Given the description of an element on the screen output the (x, y) to click on. 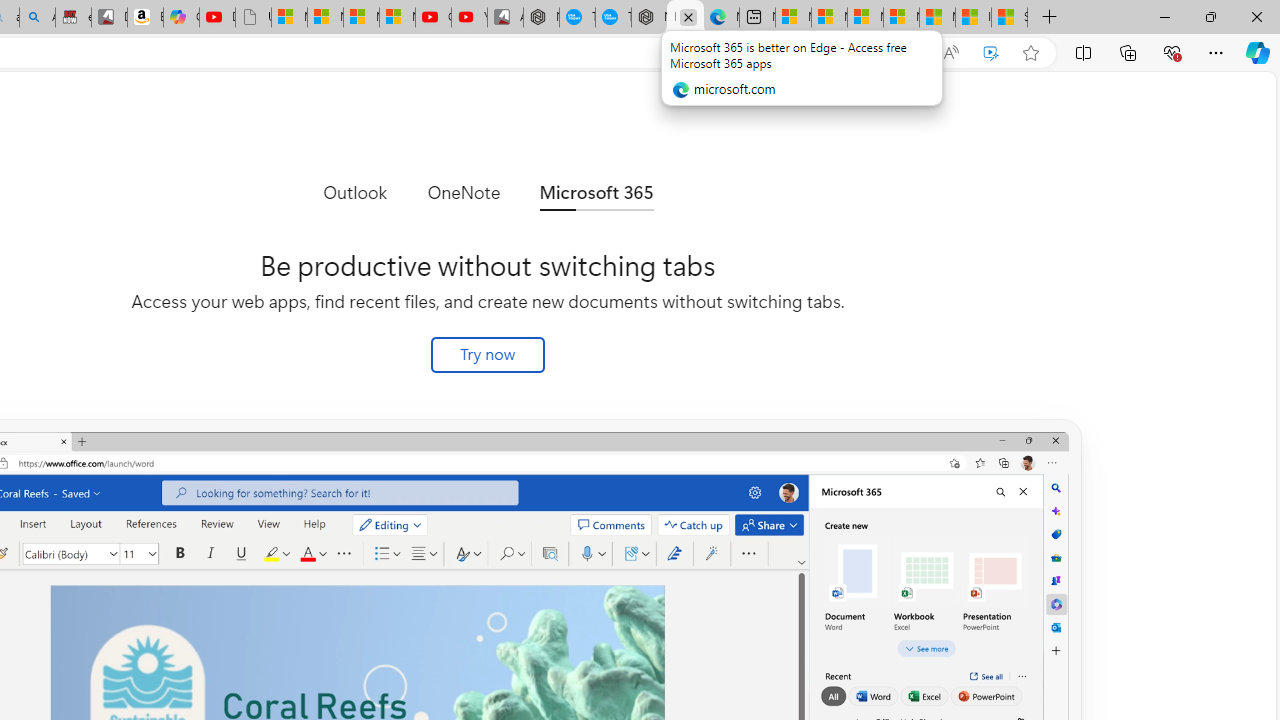
Settings and more (Alt+F) (1215, 52)
Restore (1210, 16)
New Tab (1049, 17)
Microsoft account | Privacy (901, 17)
Collections (1128, 52)
Browser essentials (1171, 52)
Enhance video (991, 53)
Microsoft Start (937, 17)
Amazon Echo Dot PNG - Search Images (37, 17)
Microsoft account | Microsoft Account Privacy Settings (829, 17)
